Given the description of an element on the screen output the (x, y) to click on. 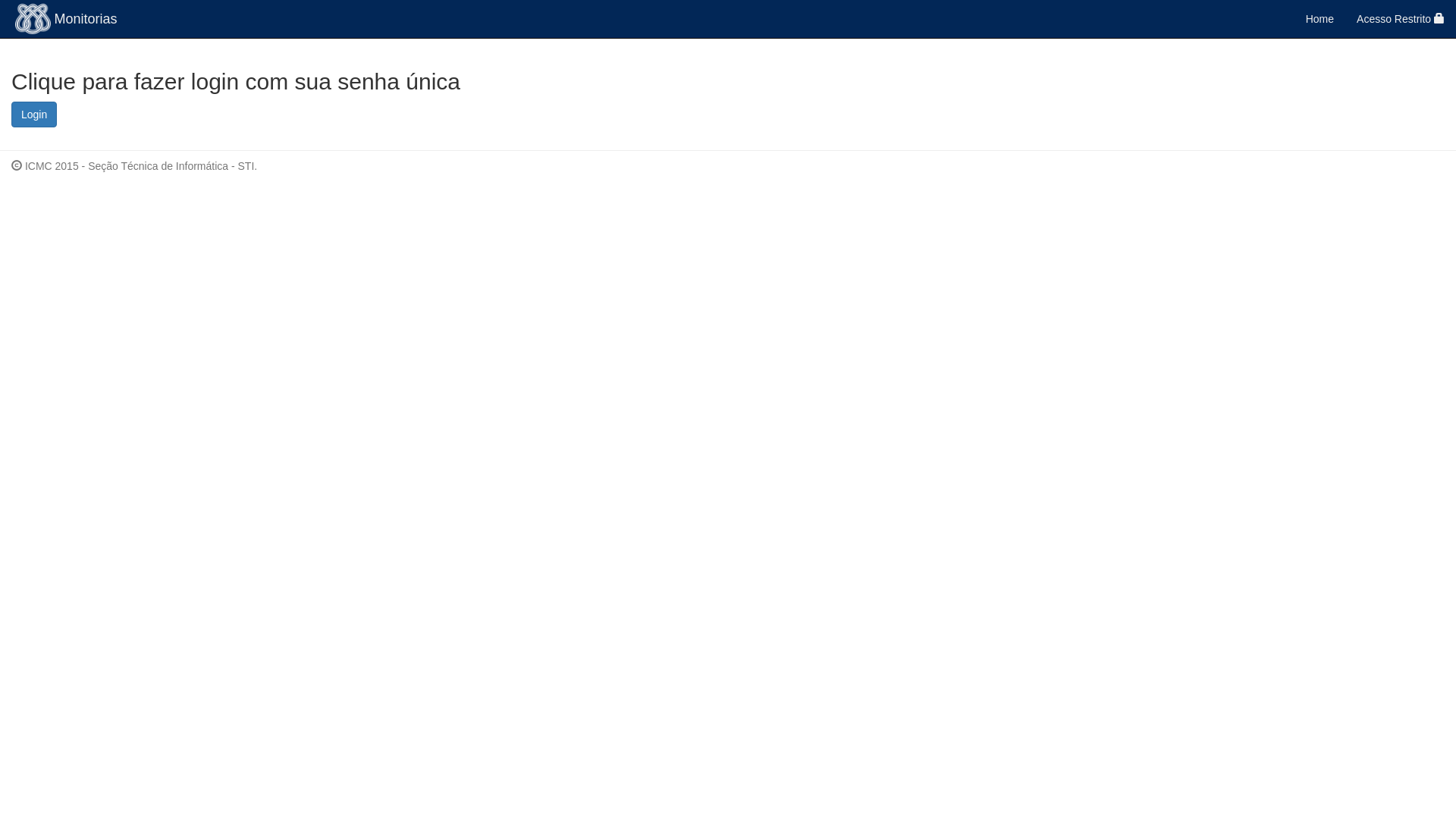
Home Element type: text (1319, 18)
Login Element type: text (33, 114)
